Given the description of an element on the screen output the (x, y) to click on. 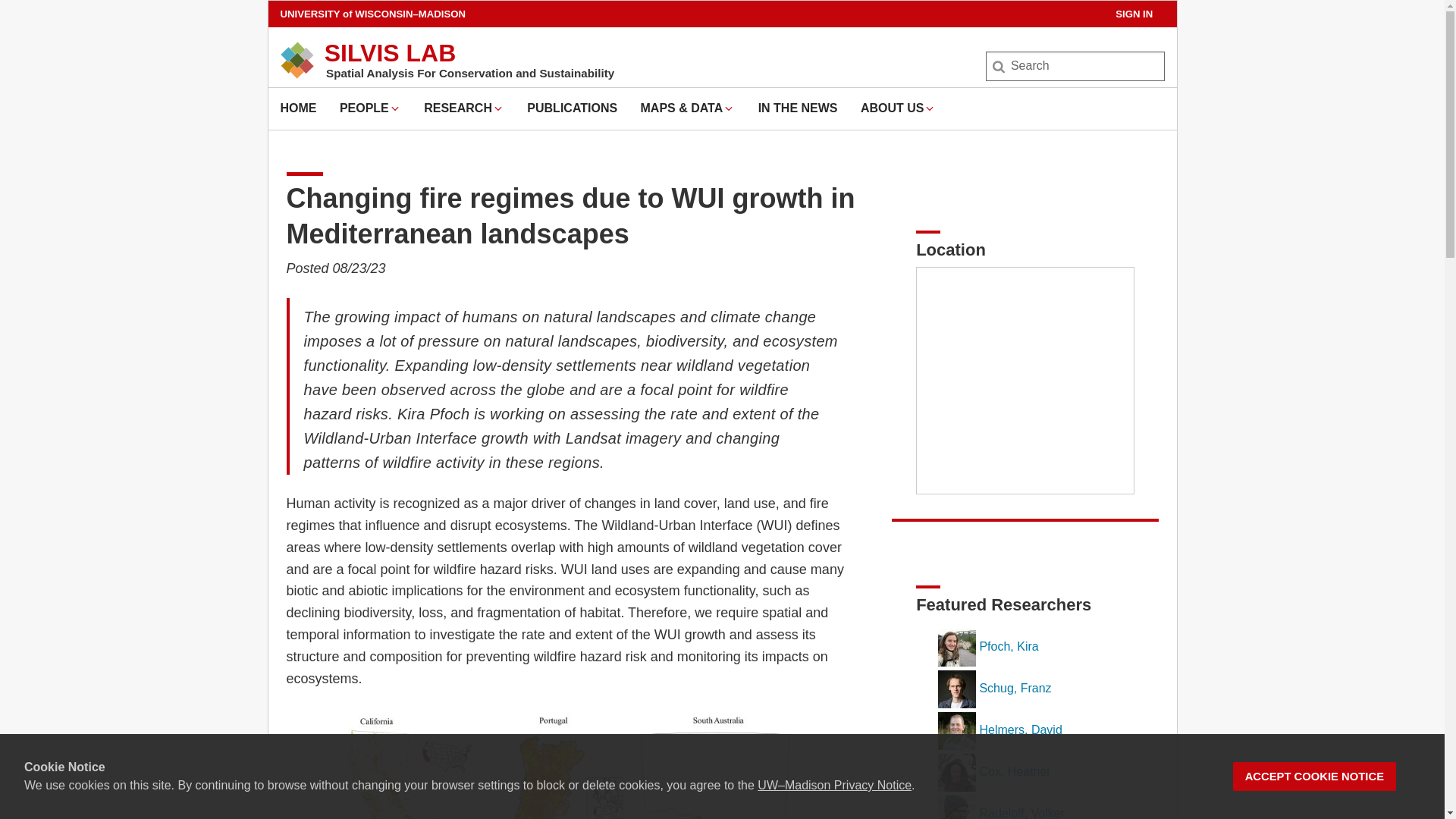
PEOPLE Expand (370, 107)
PUBLICATIONS (572, 107)
Skip to main content (271, 4)
Search (37, 16)
SILVIS LAB (390, 52)
IN THE NEWS (798, 107)
Expand (394, 108)
Expand (728, 108)
HOME (299, 107)
RESEARCH Expand (463, 107)
Expand (497, 108)
